Given the description of an element on the screen output the (x, y) to click on. 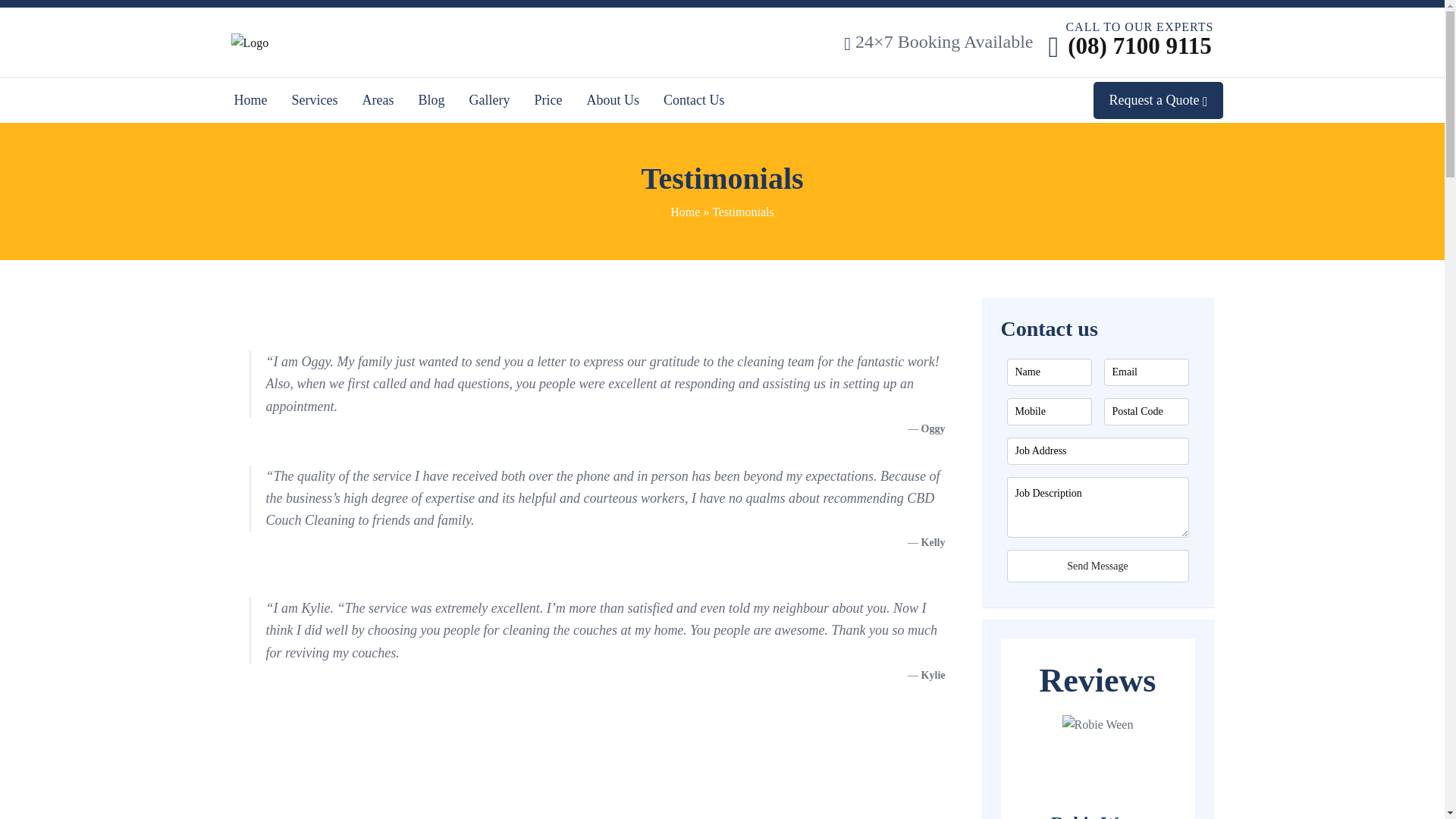
Services (315, 99)
Home (250, 99)
Send Message (1098, 565)
Areas (377, 99)
